Given the description of an element on the screen output the (x, y) to click on. 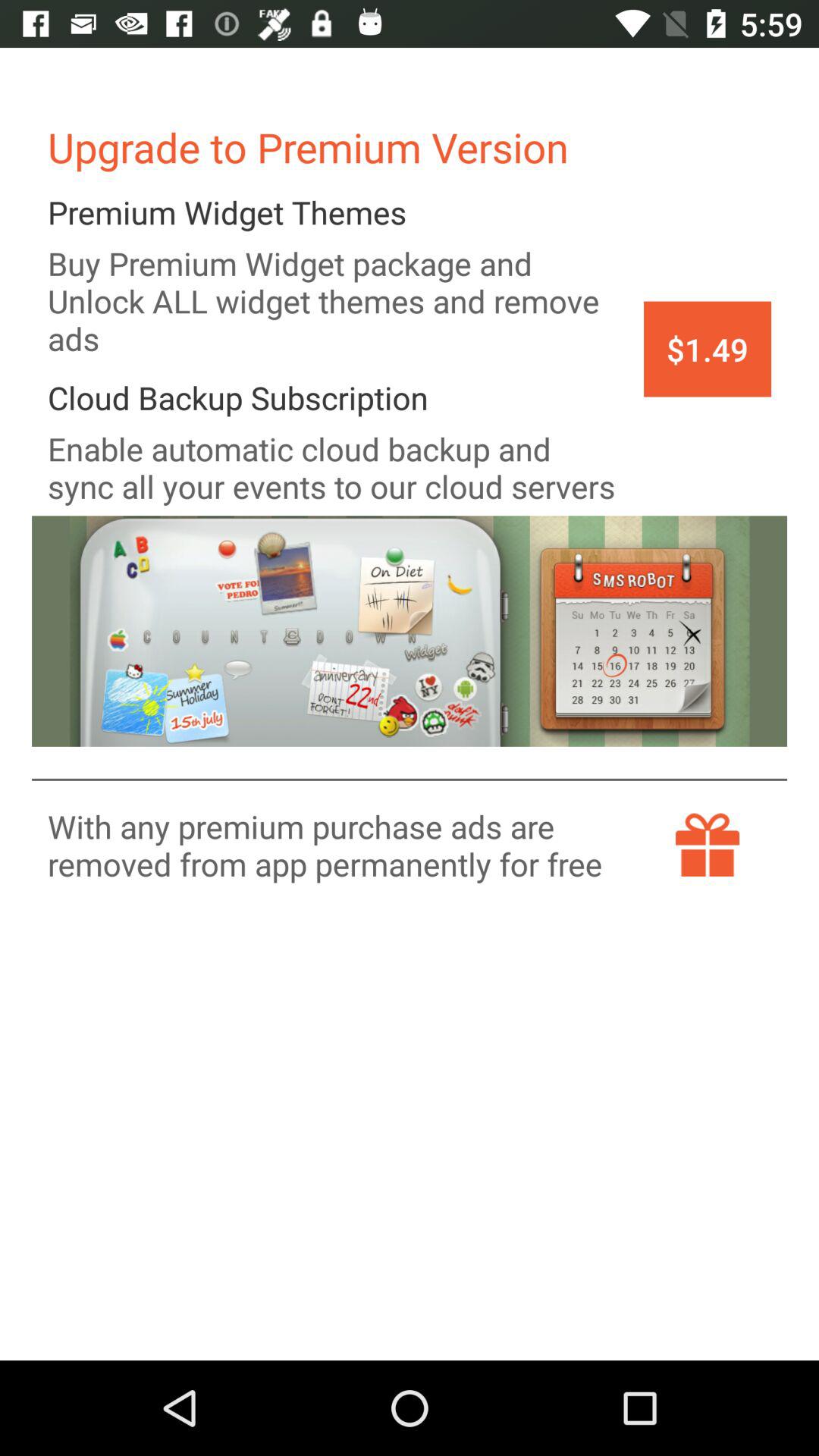
choose the item at the top right corner (707, 348)
